Given the description of an element on the screen output the (x, y) to click on. 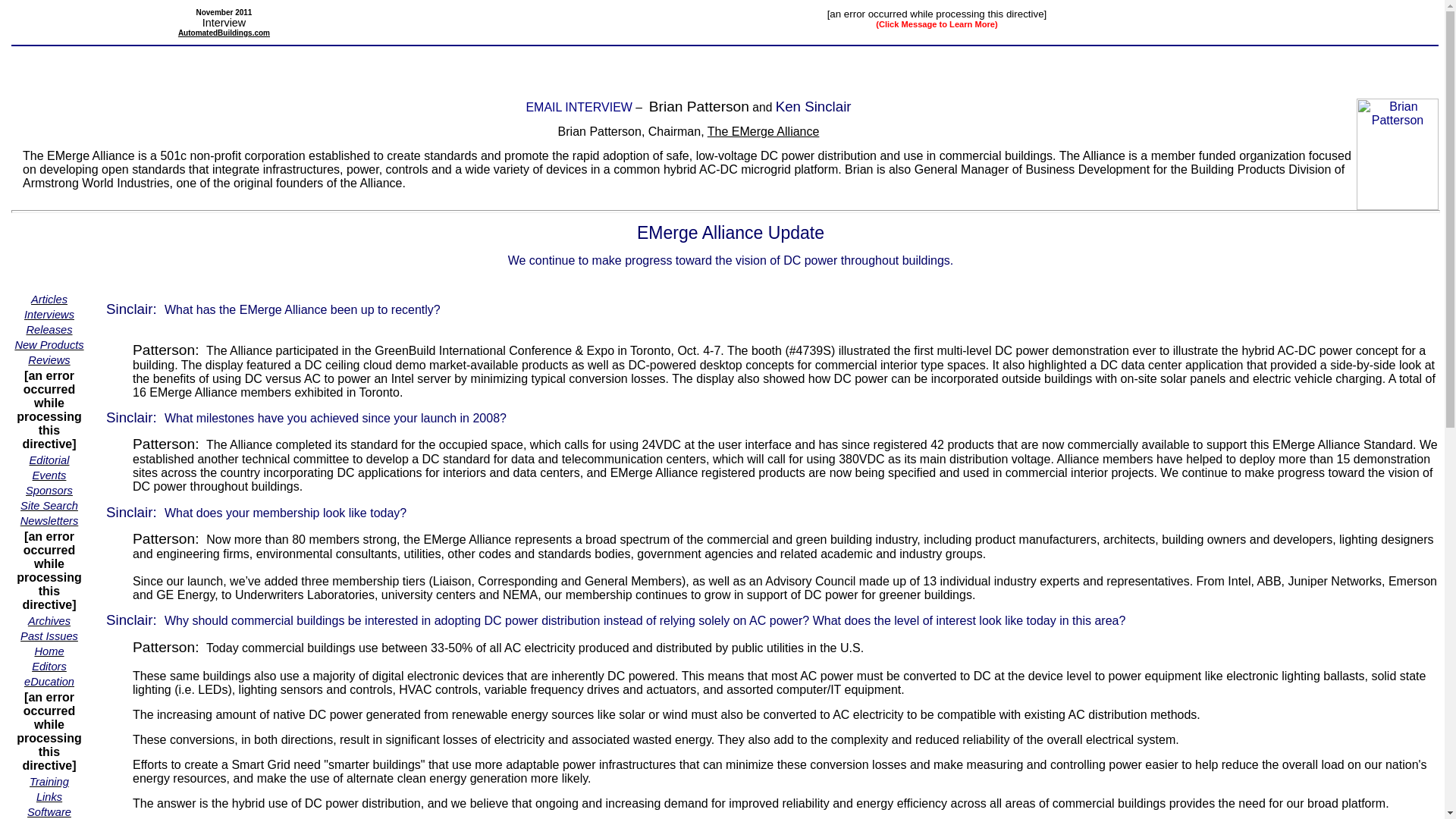
Sponsors (49, 490)
Archives (48, 620)
Past Issues (49, 635)
Home (48, 650)
New Products (48, 344)
Training (48, 780)
Articles (48, 298)
Reviews (48, 359)
Site Search (49, 504)
The EMerge Alliance (763, 131)
Newsletters (49, 520)
Events (49, 474)
AutomatedBuildings.com (223, 32)
eDucation (49, 680)
Interviews (49, 314)
